Given the description of an element on the screen output the (x, y) to click on. 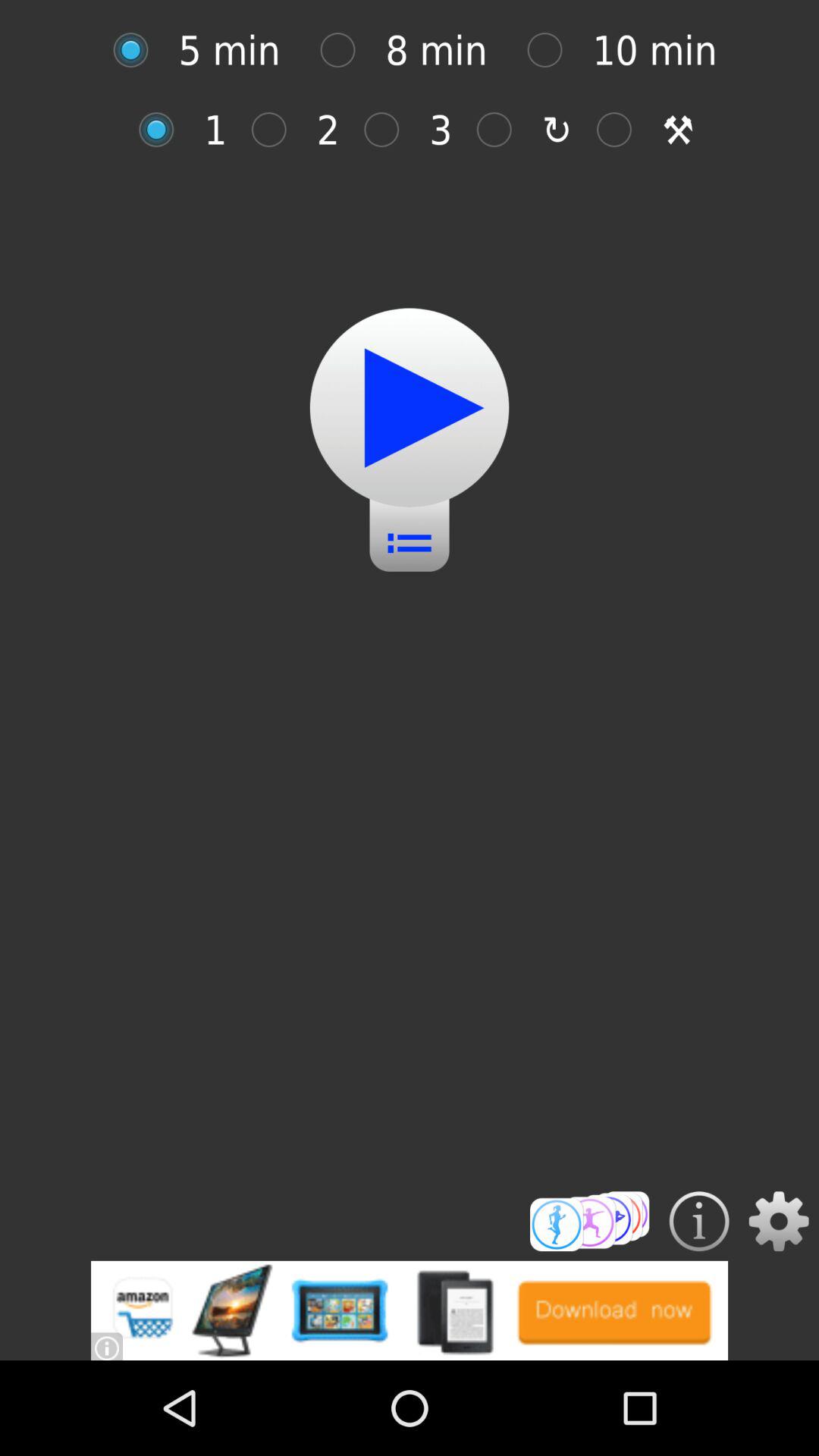
select the time (345, 49)
